Given the description of an element on the screen output the (x, y) to click on. 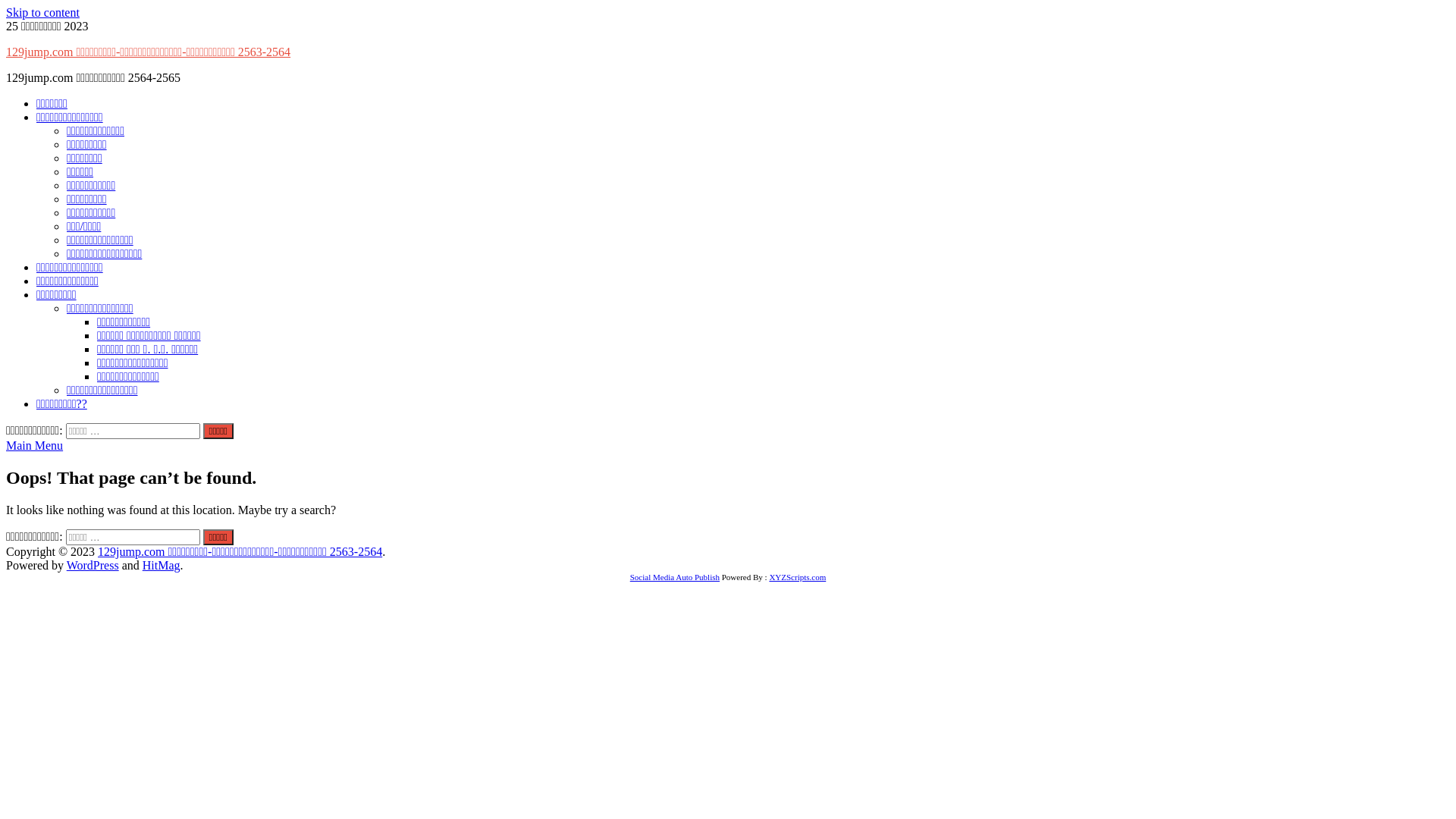
Social Media Auto Publish Element type: text (674, 576)
Main Menu Element type: text (34, 445)
HitMag Element type: text (161, 564)
WordPress Element type: text (92, 564)
Skip to content Element type: text (42, 12)
XYZScripts.com Element type: text (796, 576)
